Given the description of an element on the screen output the (x, y) to click on. 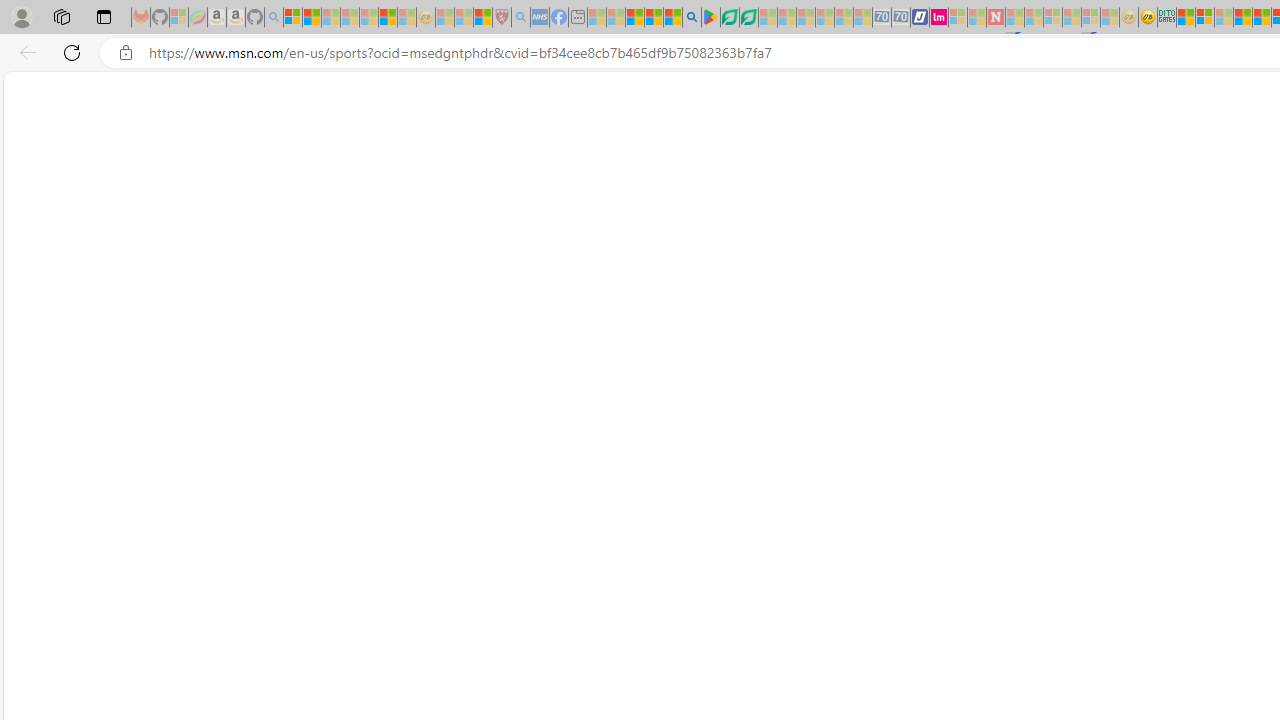
Latest Politics News & Archive | Newsweek.com - Sleeping (995, 17)
Local - MSN (482, 17)
